Given the description of an element on the screen output the (x, y) to click on. 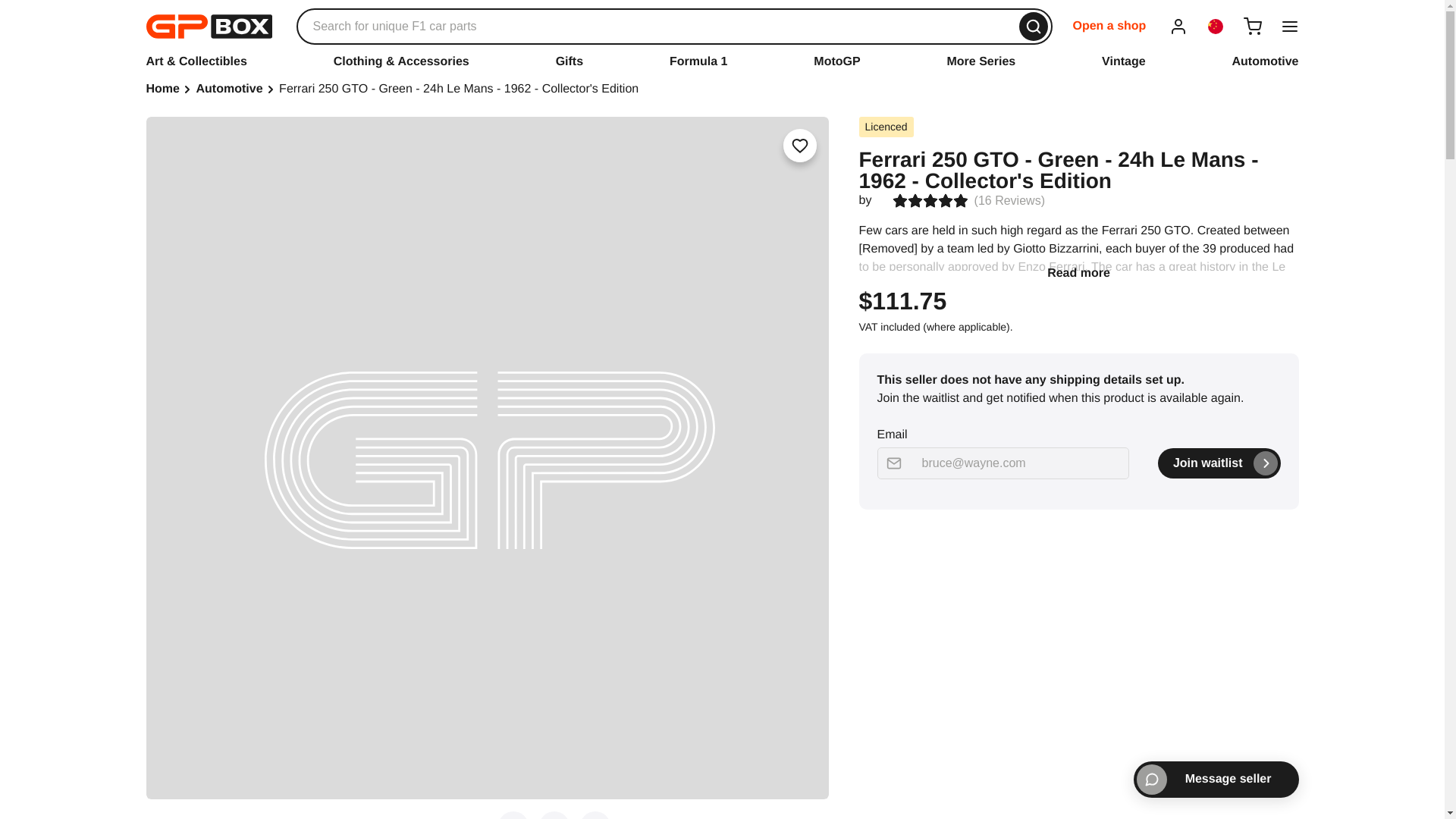
Click to see share on Pinterest (594, 815)
Search Submit (1033, 26)
Click to see share on Facebook (553, 815)
Open a shop (1108, 26)
Automotive (1264, 61)
Gifts (569, 61)
Current Country Flag (1214, 26)
GPBox (207, 26)
Search for Products or Sellers (673, 26)
Vintage (1123, 61)
More Series (980, 61)
Click to see share on Twitter (512, 815)
Shopping Cart (1252, 26)
Formula 1 (697, 61)
MotoGP (836, 61)
